Given the description of an element on the screen output the (x, y) to click on. 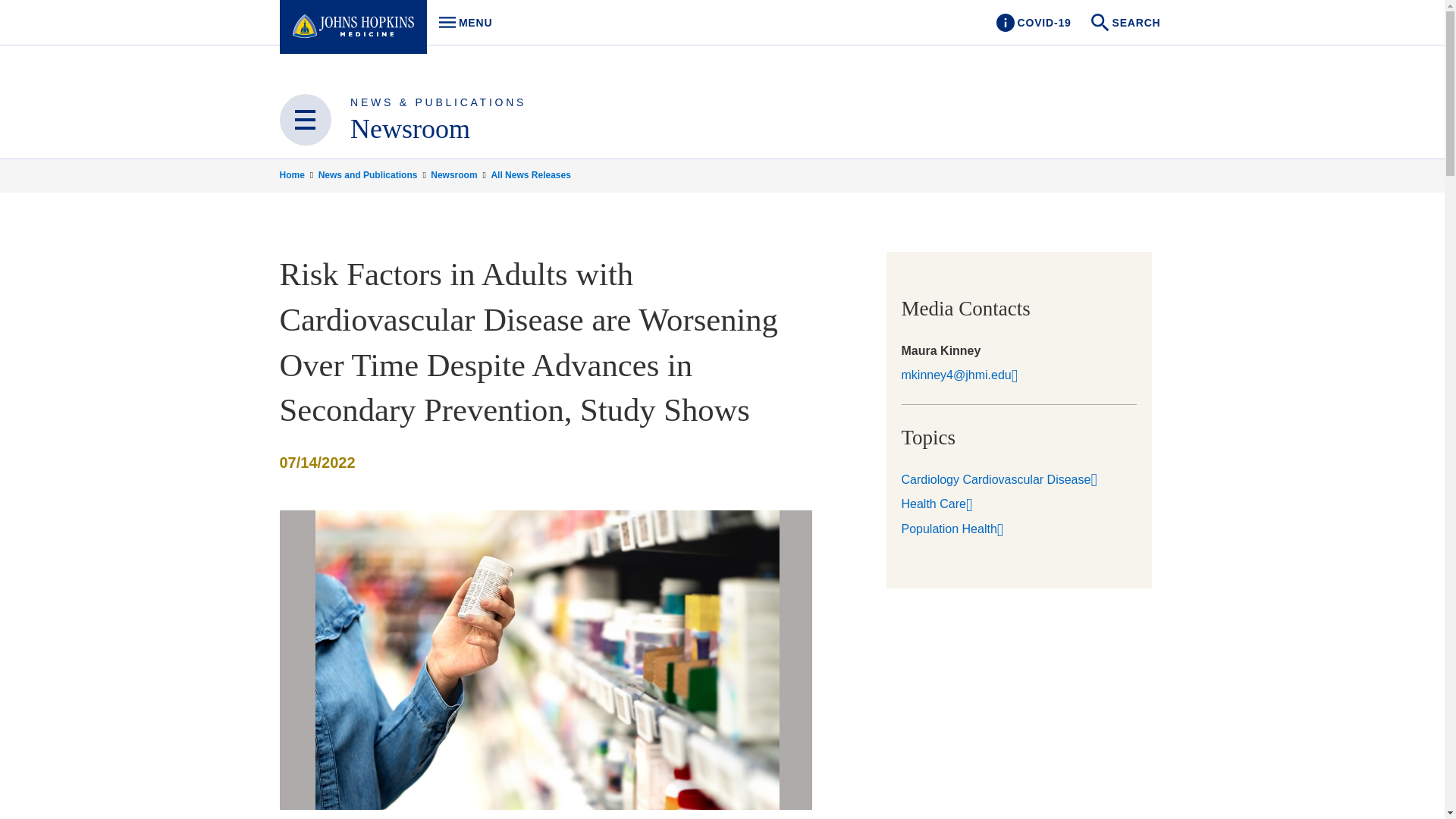
News and Publications (461, 22)
Newsroom (373, 174)
Home (458, 174)
SEARCH (296, 174)
Newsroom (1126, 22)
Close Main Menu (410, 128)
COVID-19 (304, 119)
All News Releases (1033, 22)
